Given the description of an element on the screen output the (x, y) to click on. 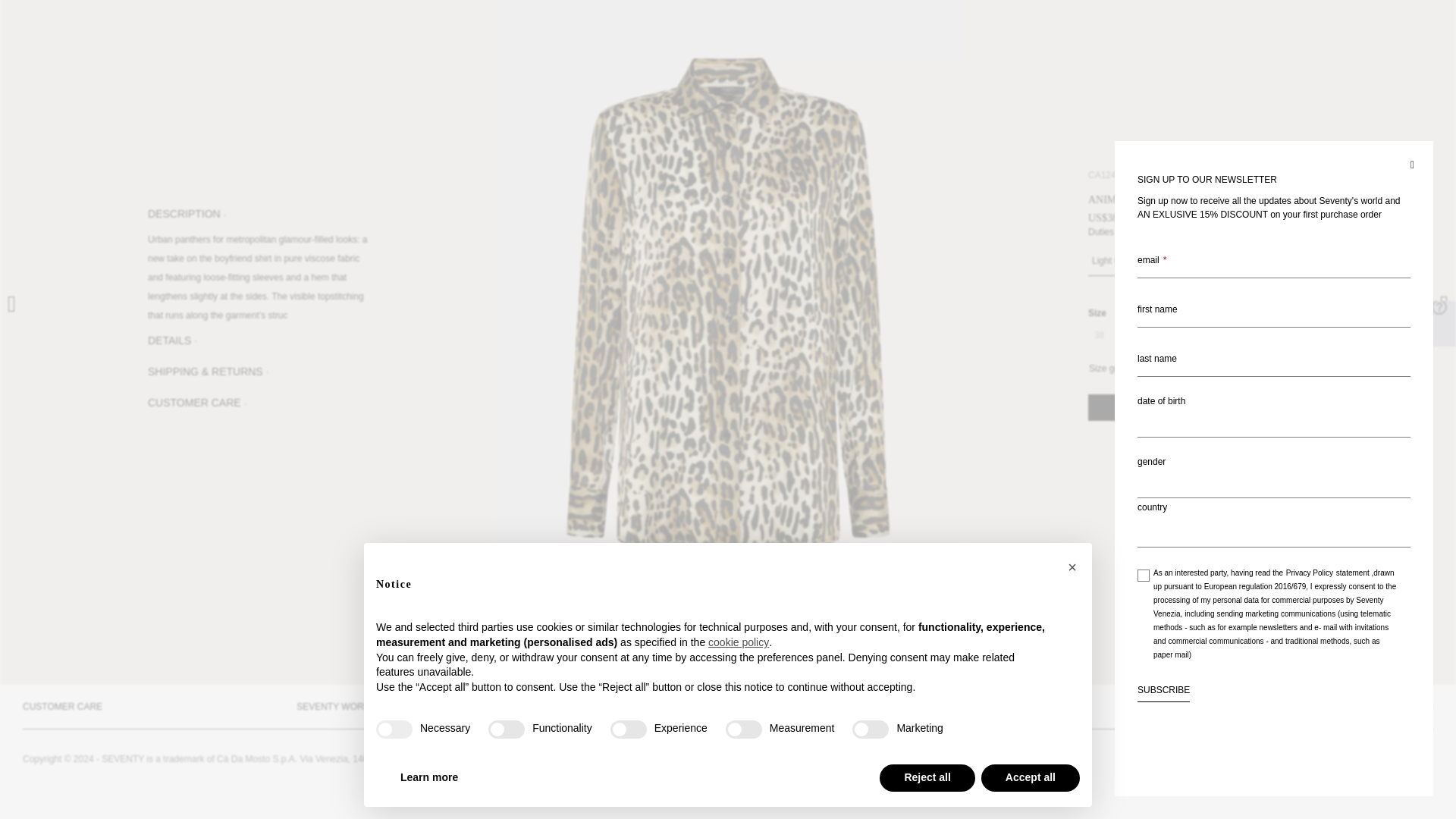
false (505, 524)
on (1143, 370)
Accept all (1030, 573)
false (869, 524)
cookie policy (737, 437)
Reject all (926, 573)
Add to Cart (1197, 406)
false (743, 524)
Learn more (428, 573)
true (393, 524)
false (628, 524)
